Given the description of an element on the screen output the (x, y) to click on. 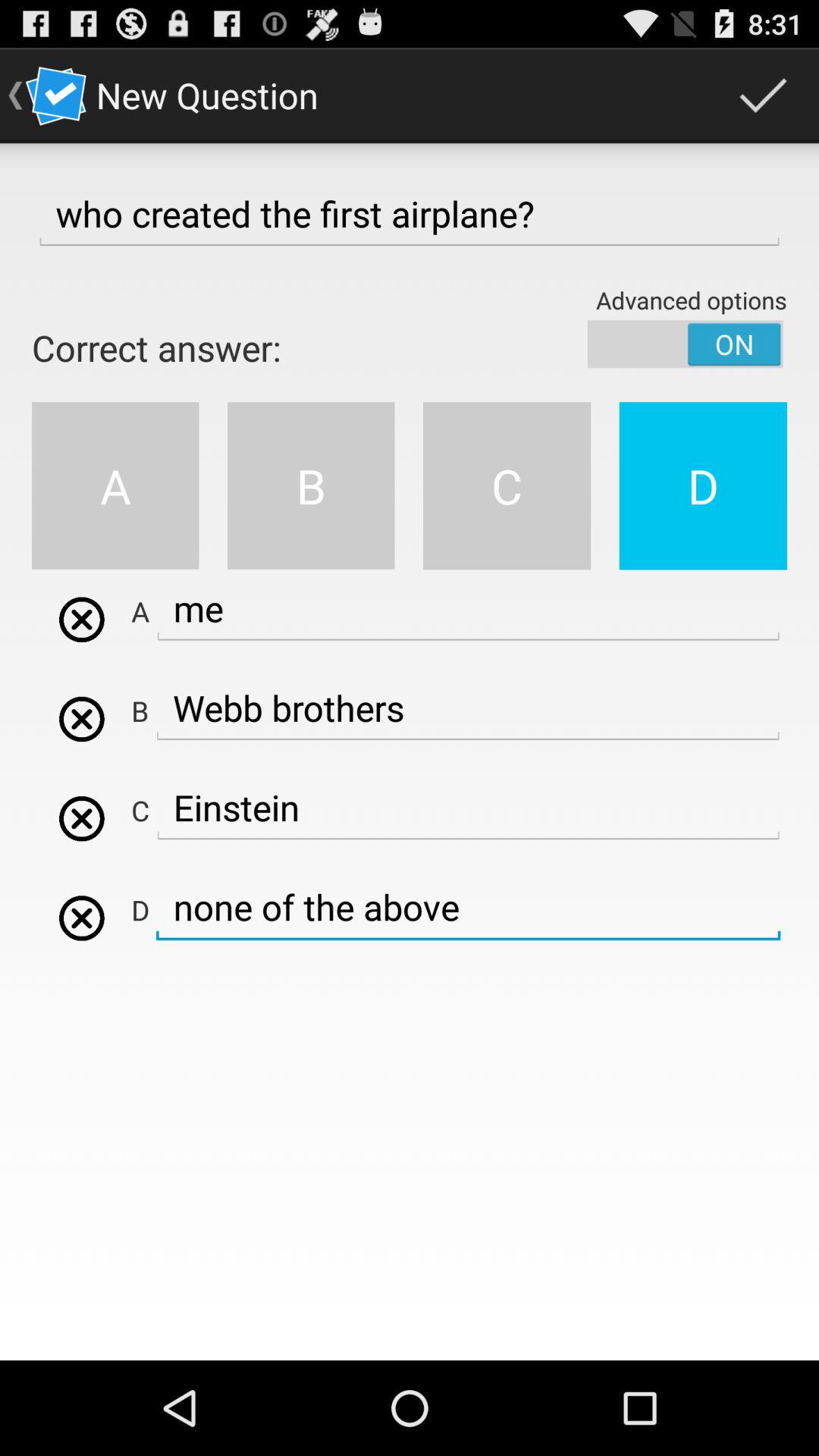
select answer (81, 818)
